Given the description of an element on the screen output the (x, y) to click on. 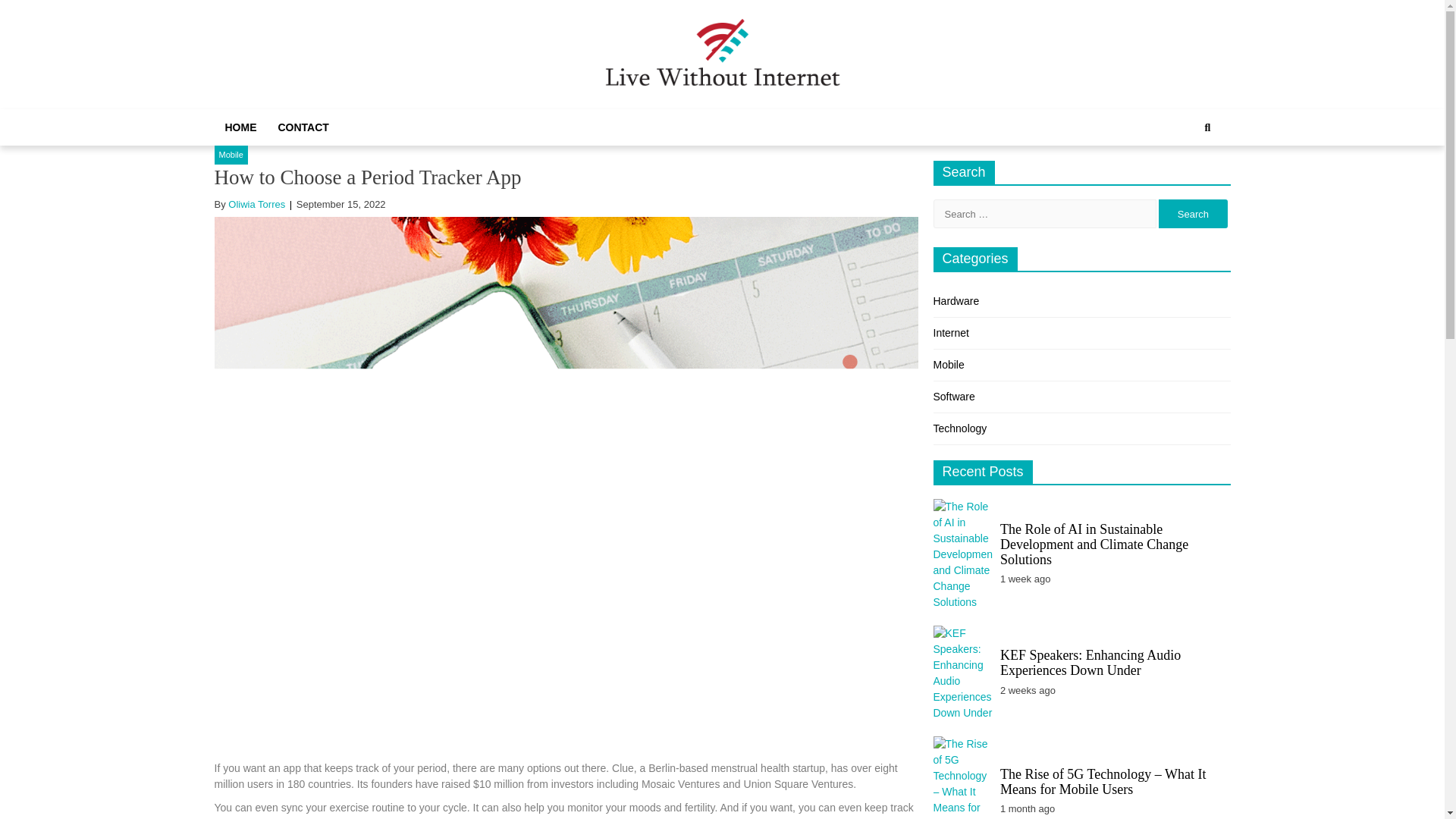
Software (953, 396)
Technology (960, 428)
Hardware (955, 300)
CONTACT (302, 126)
Mobile (948, 364)
Search (1192, 213)
Internet (950, 332)
HOME (240, 126)
Live Without Internet (753, 111)
Search (1207, 126)
Search (1192, 213)
Search (1191, 178)
Oliwia Torres (256, 204)
Mobile (230, 154)
